Given the description of an element on the screen output the (x, y) to click on. 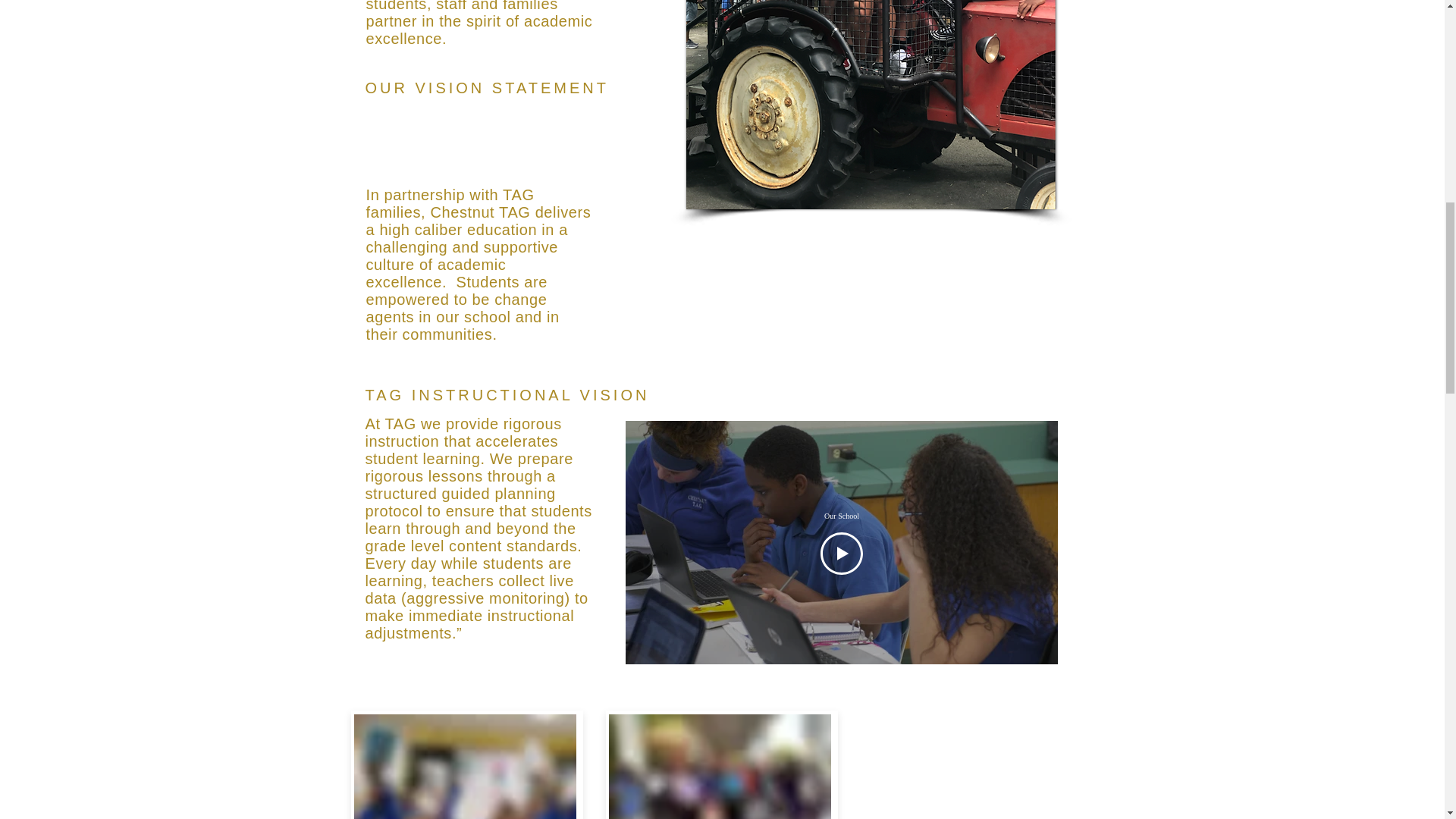
Our School (840, 515)
